Given the description of an element on the screen output the (x, y) to click on. 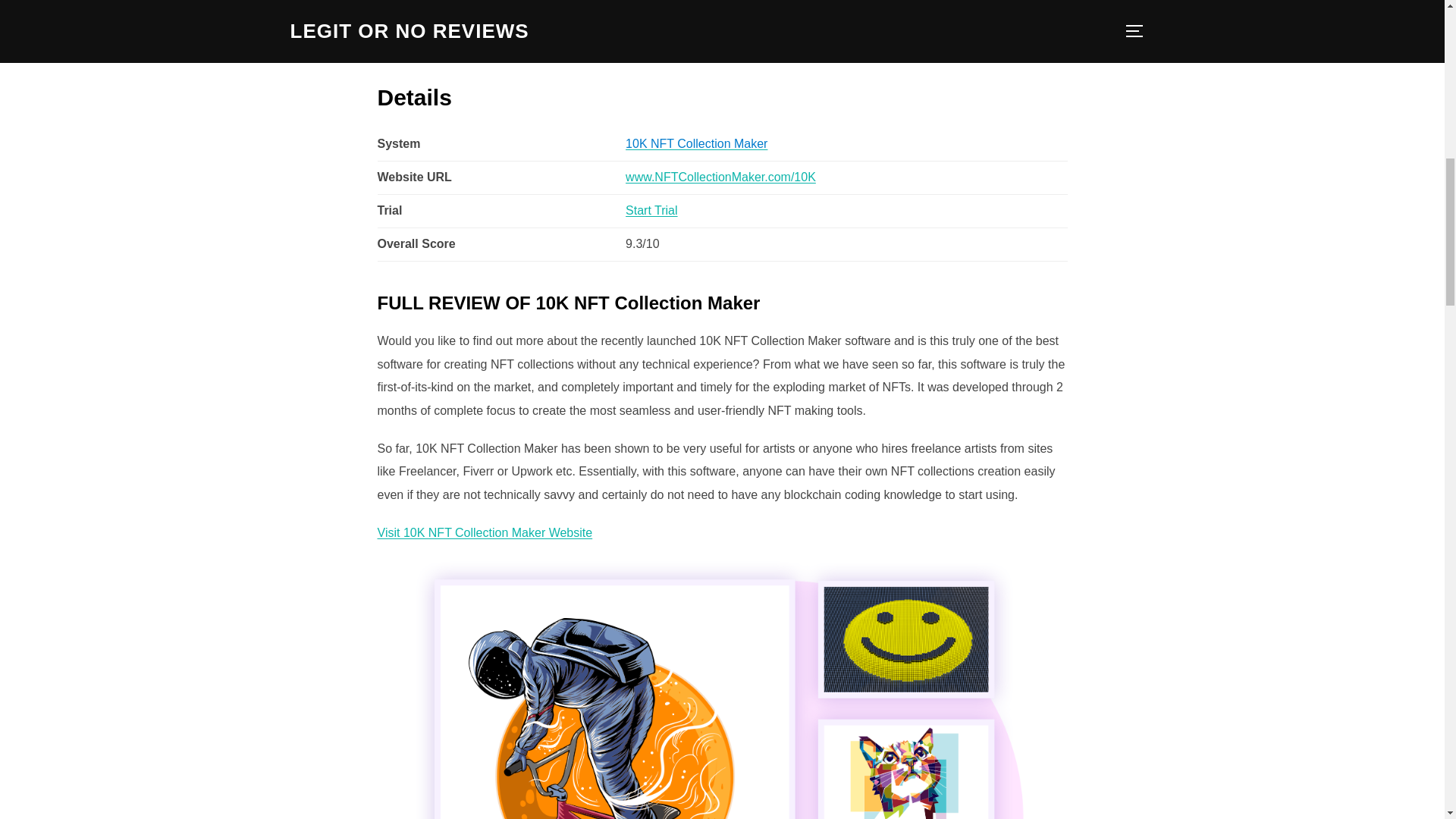
10K NFT Collection Maker (696, 143)
Start Trial (651, 210)
Visit 10K NFT Collection Maker Website (484, 532)
